Given the description of an element on the screen output the (x, y) to click on. 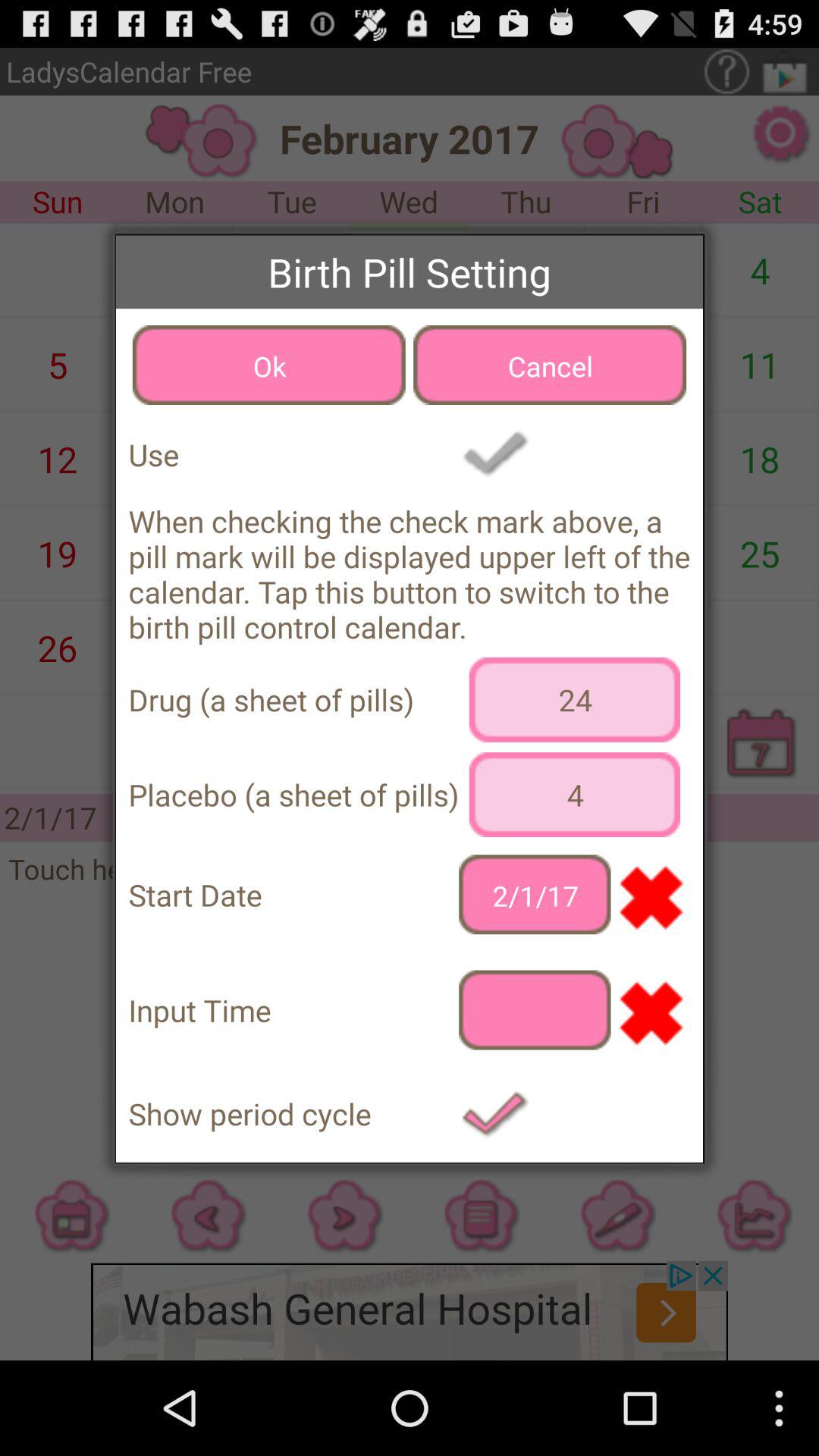
press the item to the left of cancel button (268, 364)
